Given the description of an element on the screen output the (x, y) to click on. 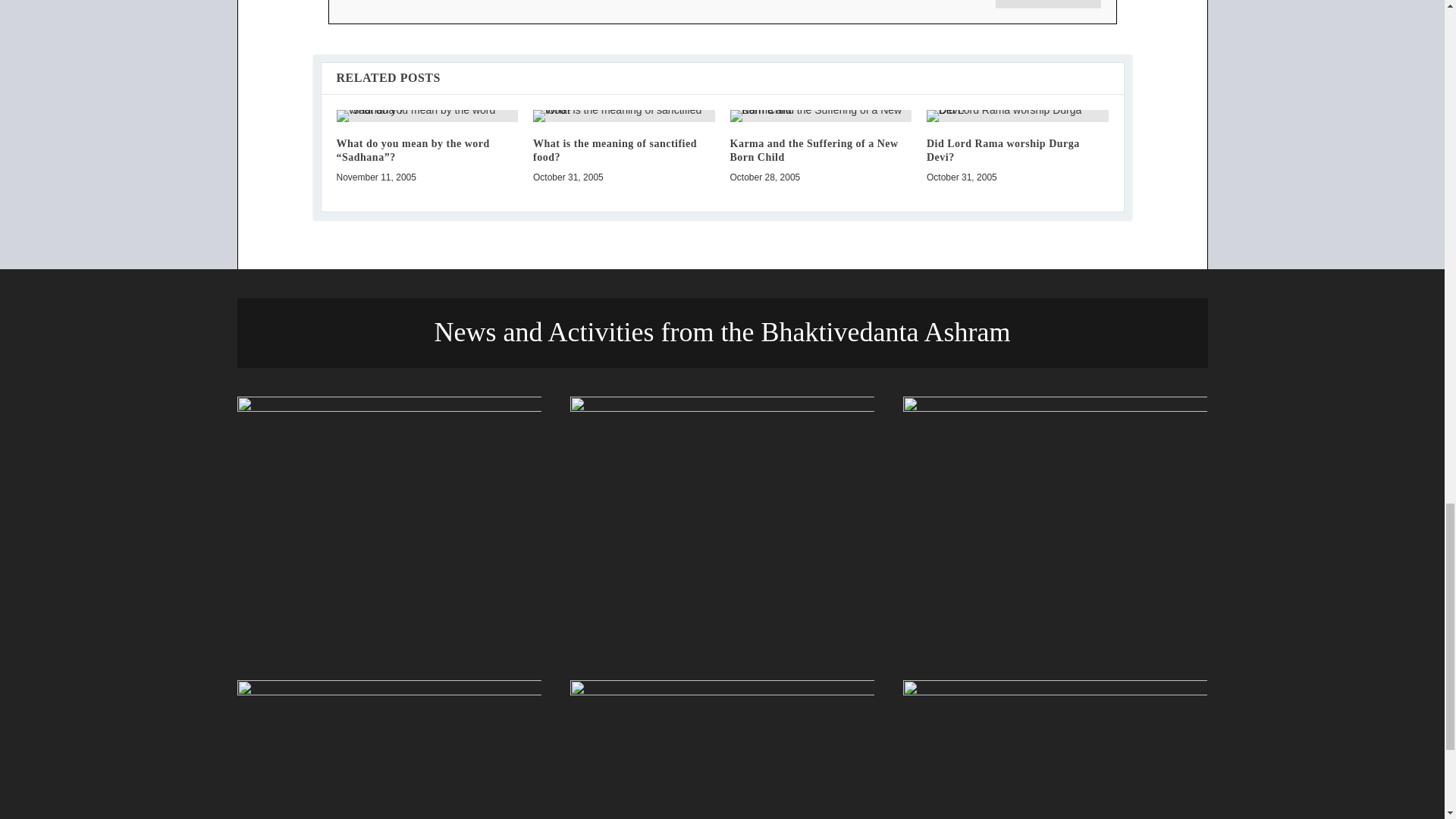
Did Lord Rama worship Durga Devi? (1017, 115)
footer-01 (387, 523)
footer-02 (722, 523)
footer-03 (1054, 523)
Post Comment (1047, 4)
Post Comment (1047, 4)
Karma and the Suffering of a New Born Child (820, 115)
What is the meaning of sanctified food? (623, 115)
footer-04 (387, 749)
